Given the description of an element on the screen output the (x, y) to click on. 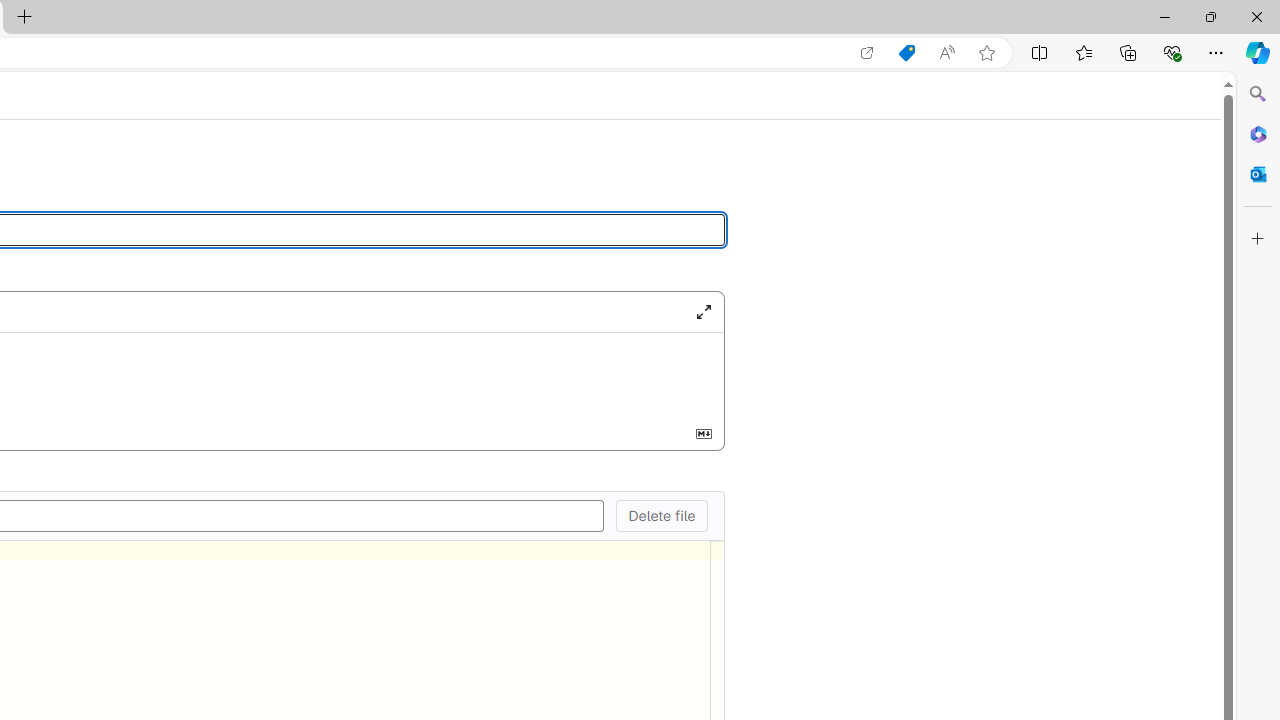
Markdown is supported (703, 433)
Go full screen (703, 311)
